Given the description of an element on the screen output the (x, y) to click on. 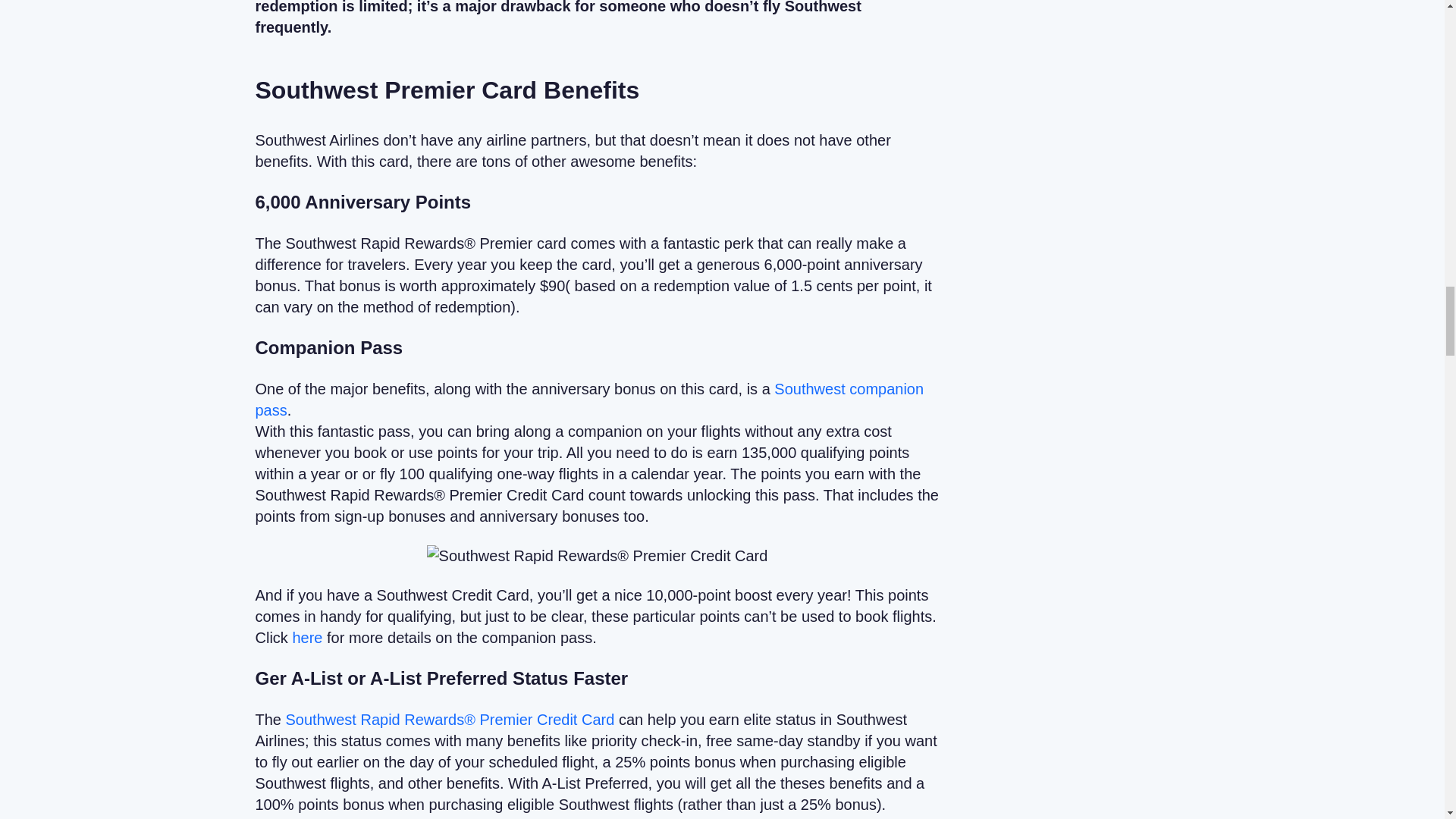
Southwest companion pass (588, 399)
here (309, 637)
